Given the description of an element on the screen output the (x, y) to click on. 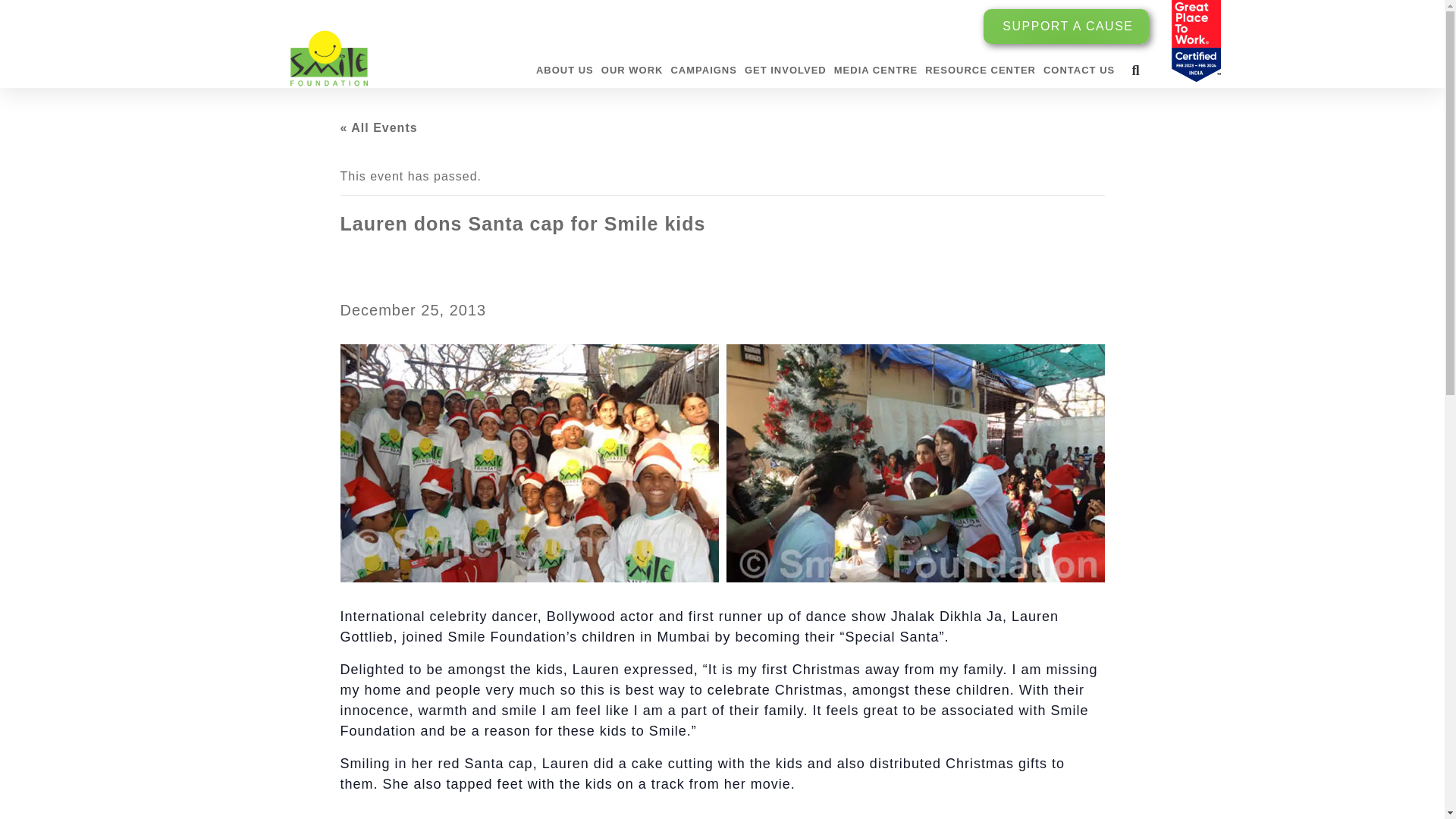
CAMPAIGNS (702, 70)
OUR WORK (632, 70)
GET INVOLVED (785, 70)
SUPPORT A CAUSE (1066, 26)
ABOUT US (564, 70)
